Given the description of an element on the screen output the (x, y) to click on. 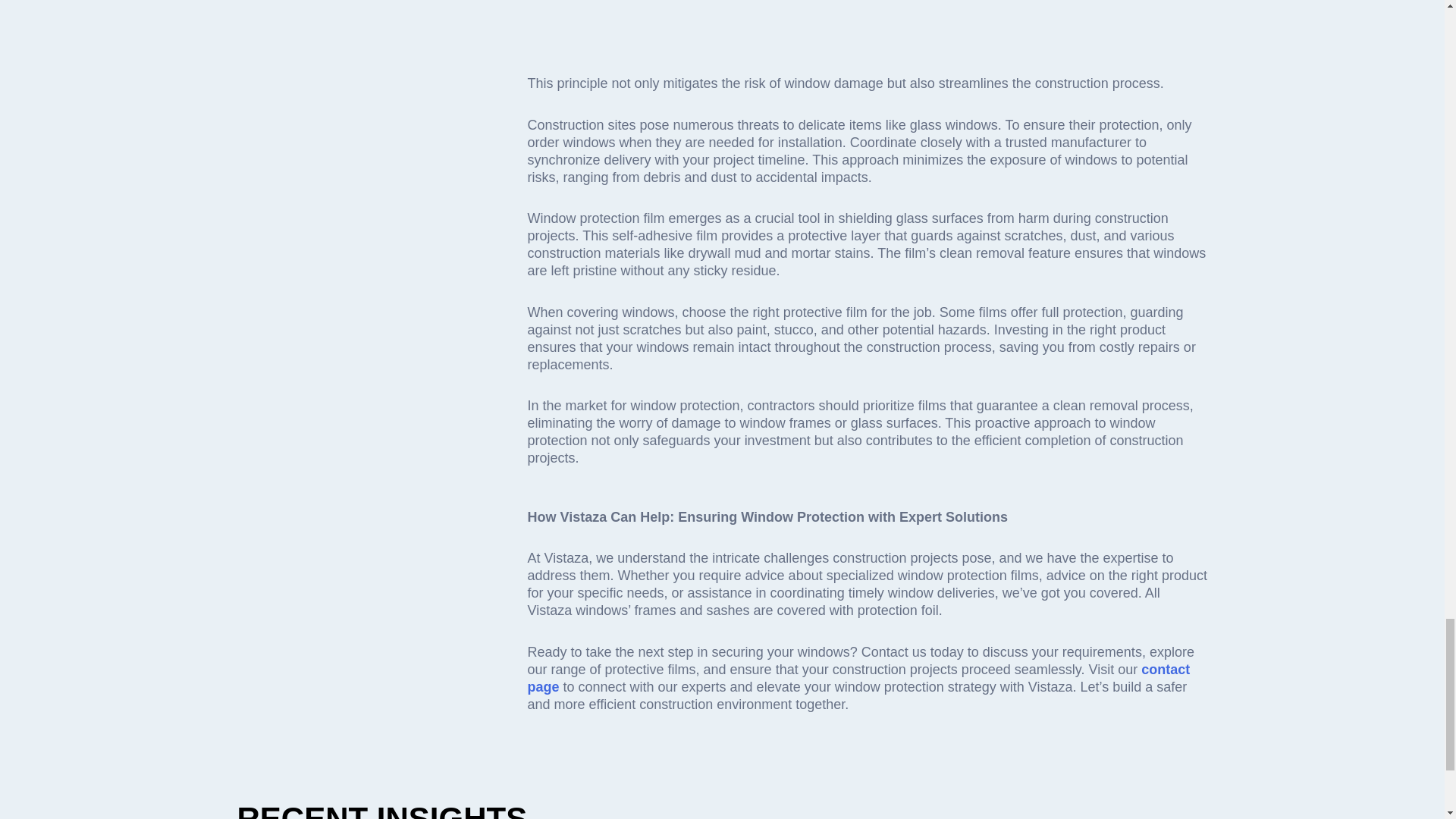
contact page (858, 677)
